Given the description of an element on the screen output the (x, y) to click on. 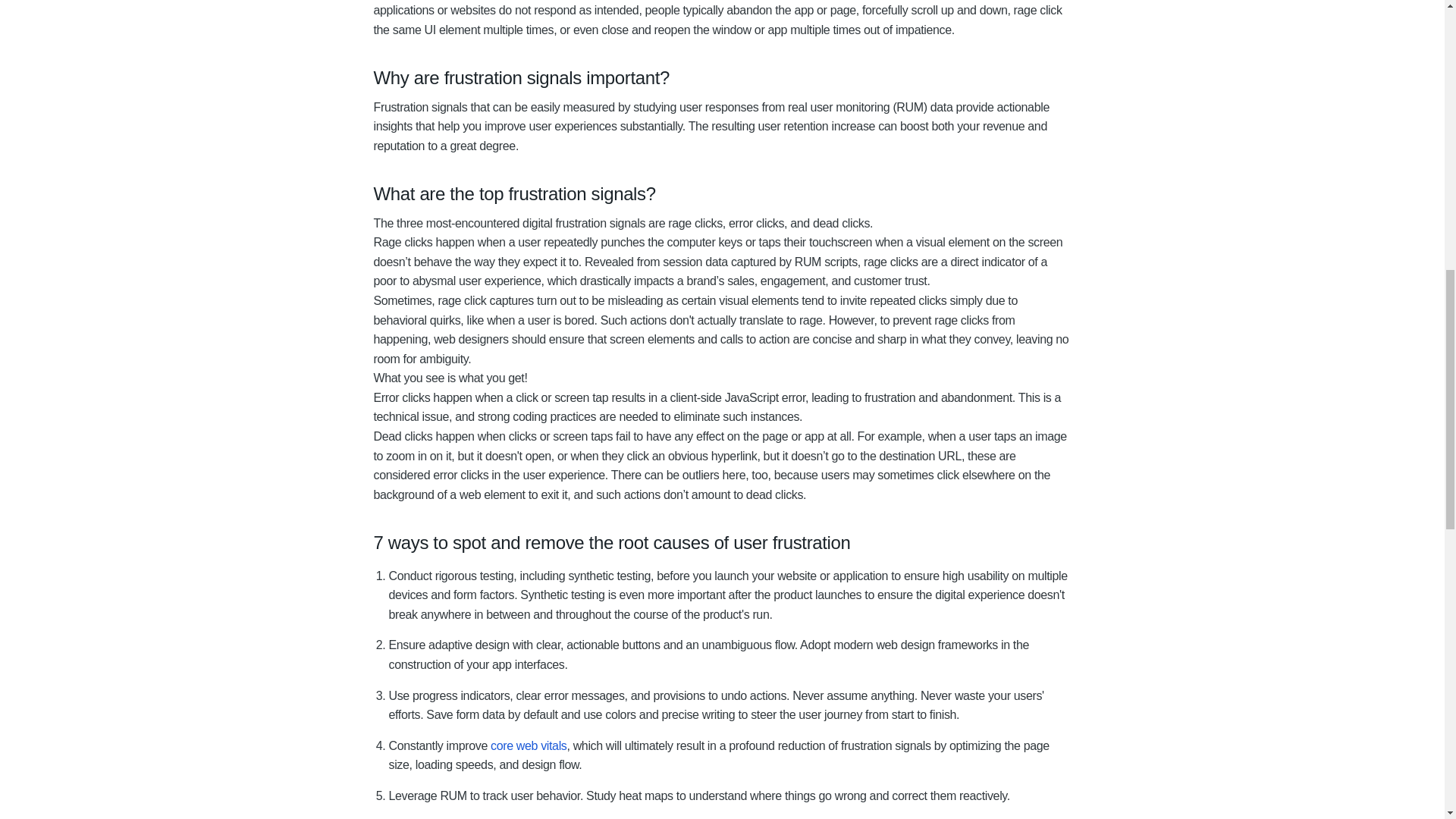
core web vitals (528, 745)
